Given the description of an element on the screen output the (x, y) to click on. 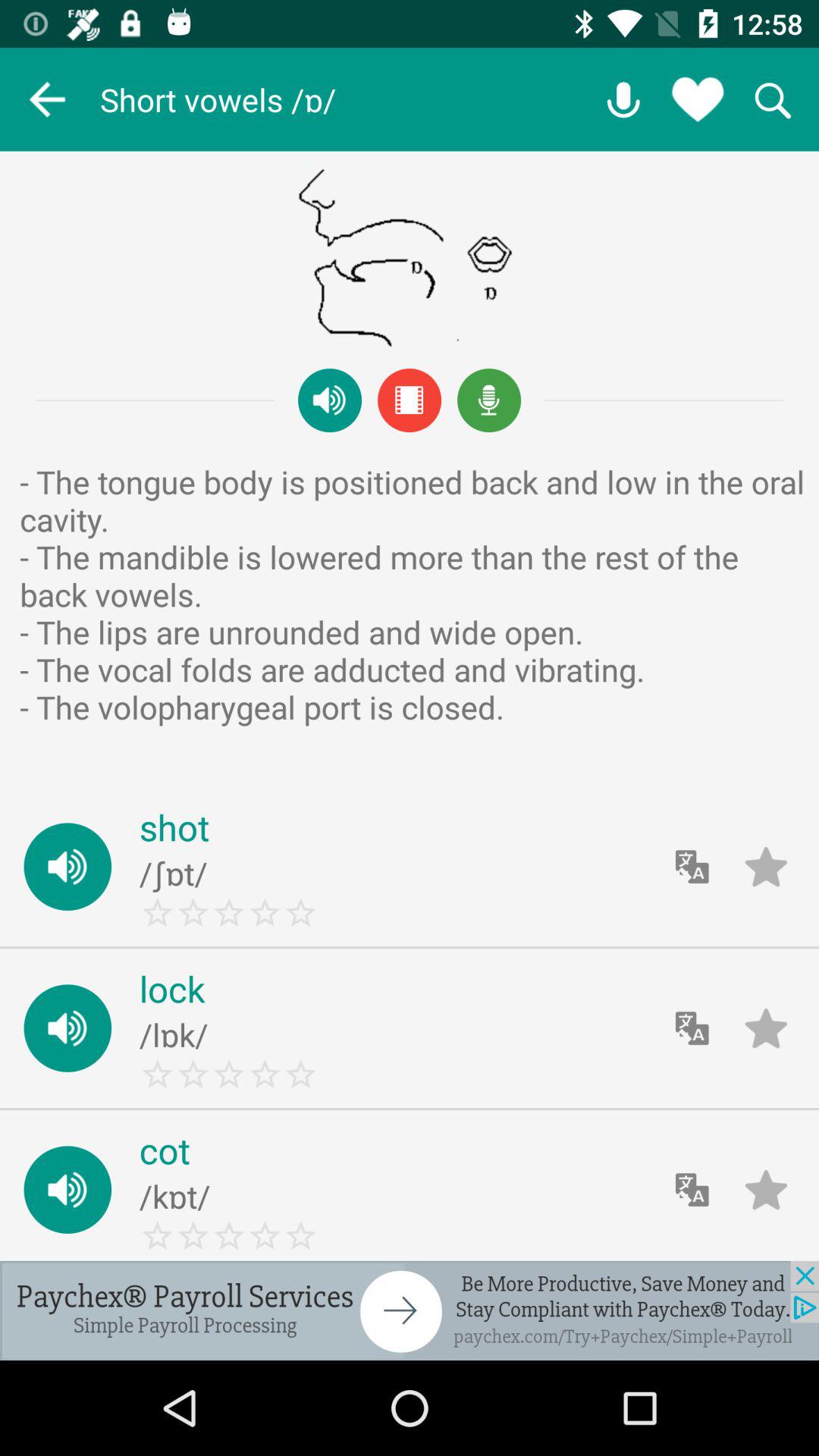
go to heart symbol left to search button (697, 99)
select the language icon beside cot text (692, 1190)
click on volume which is above cot option (67, 1028)
choose the sound icon beside shot to listen the pronunciation (67, 866)
select back button (47, 99)
click on the recoder icon (489, 401)
